Given the description of an element on the screen output the (x, y) to click on. 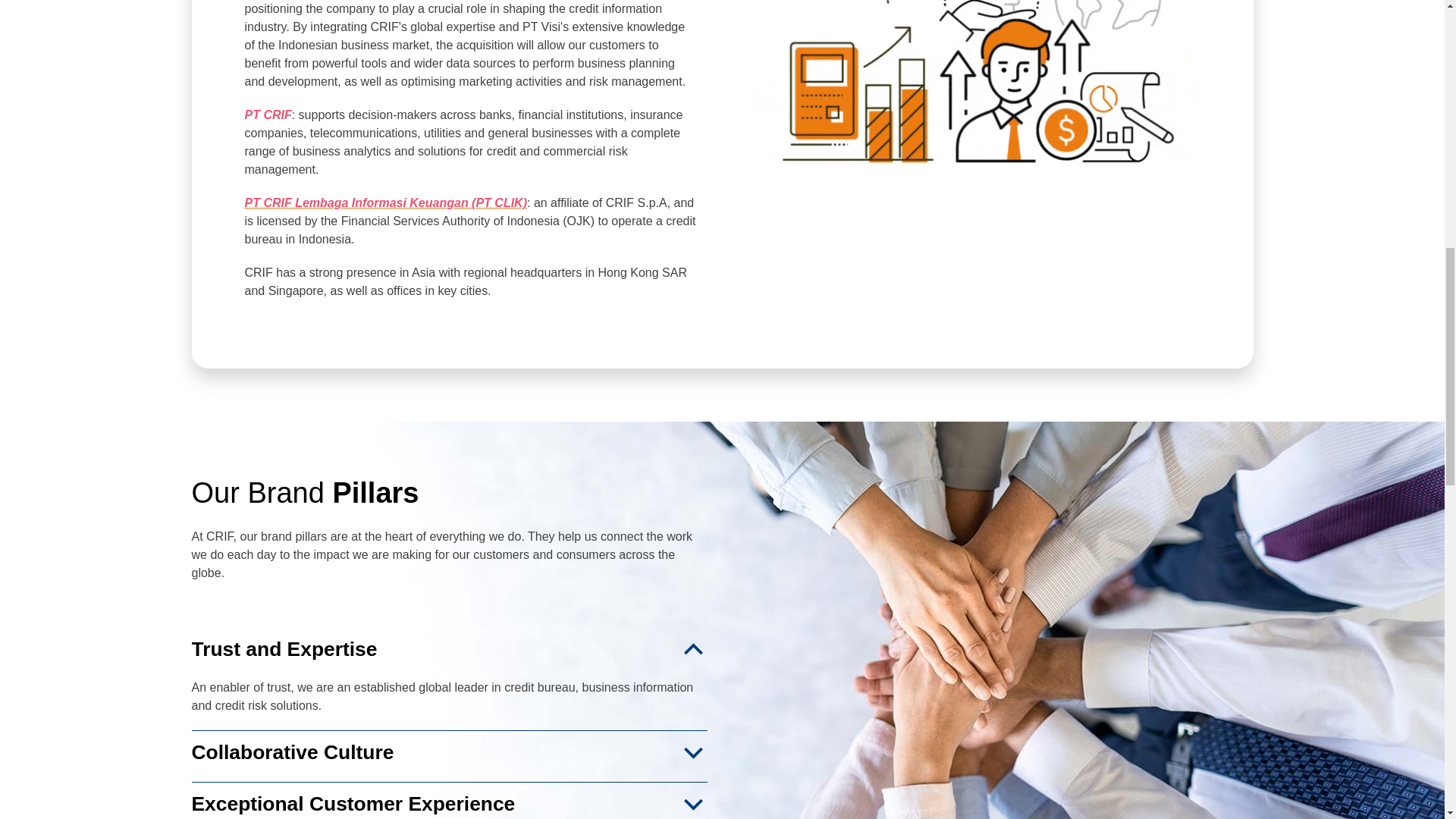
Collaborative Culture (448, 752)
Exceptional Customer Experience (448, 804)
Trust and Expertise (448, 649)
